Given the description of an element on the screen output the (x, y) to click on. 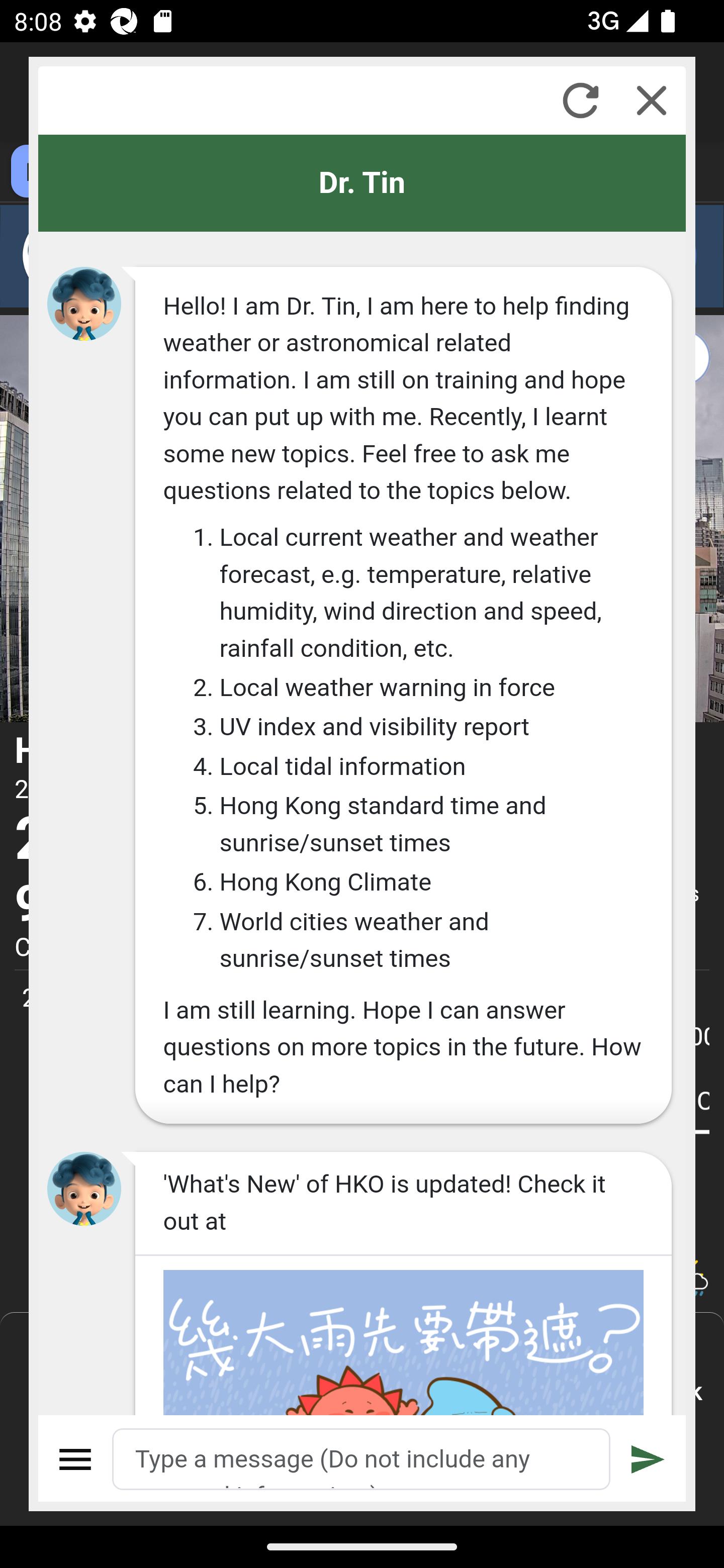
Refresh (580, 100)
Close (651, 100)
Menu (75, 1458)
Submit (648, 1458)
